Given the description of an element on the screen output the (x, y) to click on. 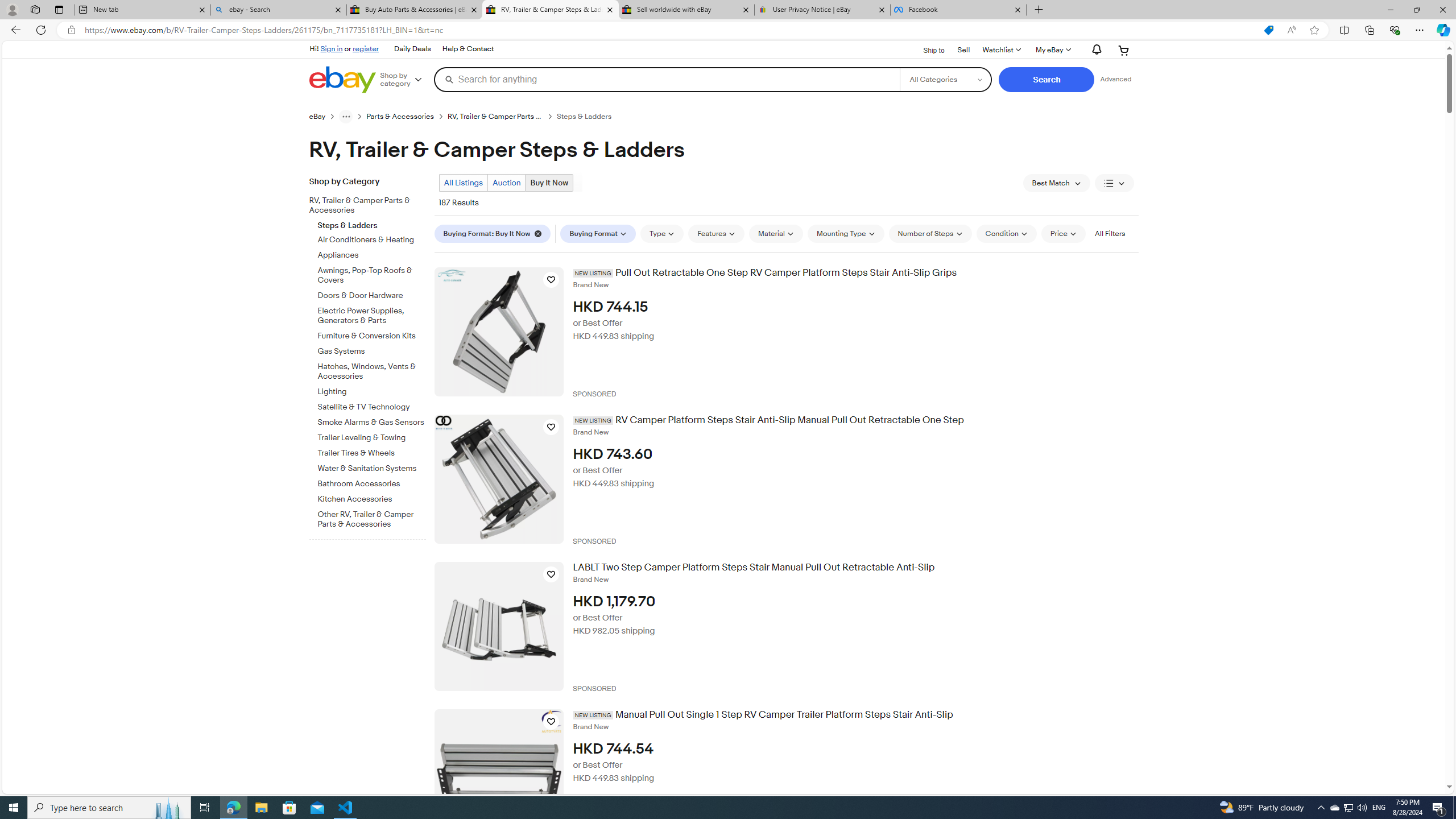
Auction (505, 182)
Sign in (331, 48)
All Filters (1109, 233)
Parts & Accessories (399, 116)
Notifications (1093, 49)
Sell worldwide with eBay (685, 9)
eBay Home (341, 79)
Watchlist (1000, 49)
RV, Trailer & Camper Parts & Accessories (371, 203)
Gas Systems (371, 349)
